Given the description of an element on the screen output the (x, y) to click on. 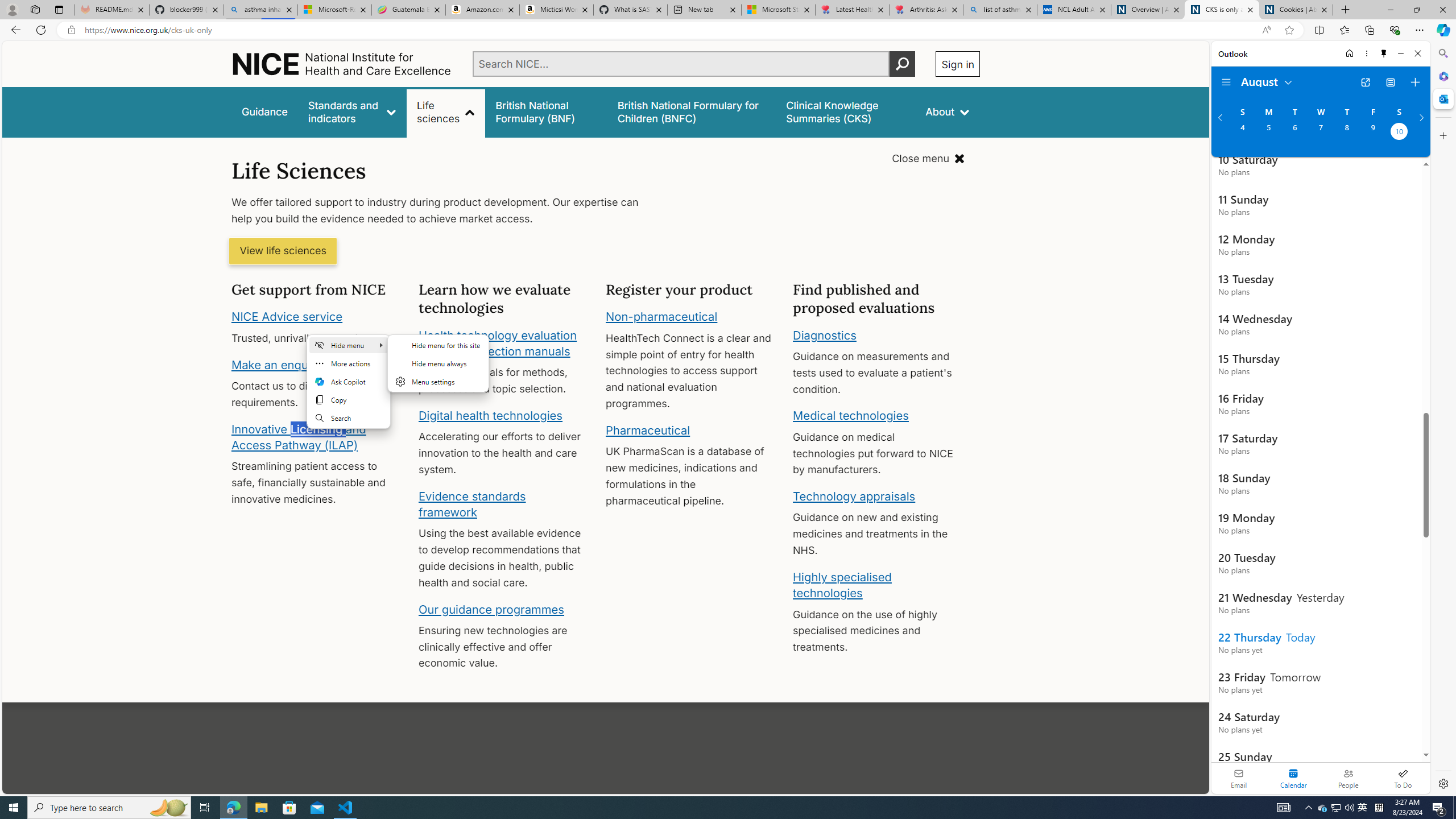
More actions (348, 363)
Hide menu for this site (438, 344)
To Do (1402, 777)
Innovative Licensing and Access Pathway (ILAP) (298, 436)
Tuesday, August 6, 2024.  (1294, 132)
